Given the description of an element on the screen output the (x, y) to click on. 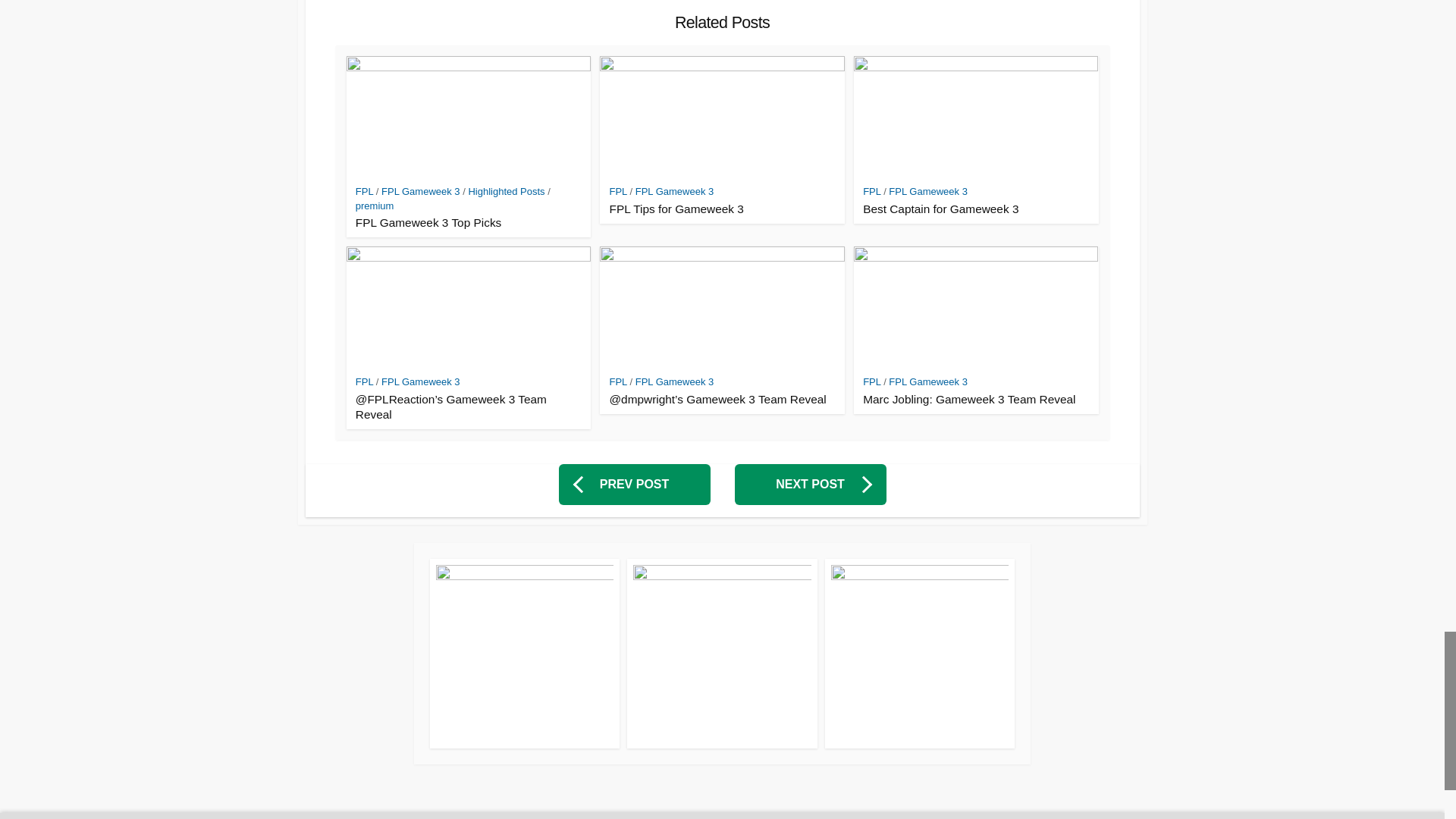
The Home of Fantasy Football (721, 653)
premium (374, 205)
Highlighted Posts (505, 191)
FPL Gameweek 3 Top Picks (467, 222)
The Home of Fantasy Football (920, 653)
The Home of Fantasy Football (523, 653)
FPL (363, 191)
FPL Gameweek 3 (420, 191)
